Given the description of an element on the screen output the (x, y) to click on. 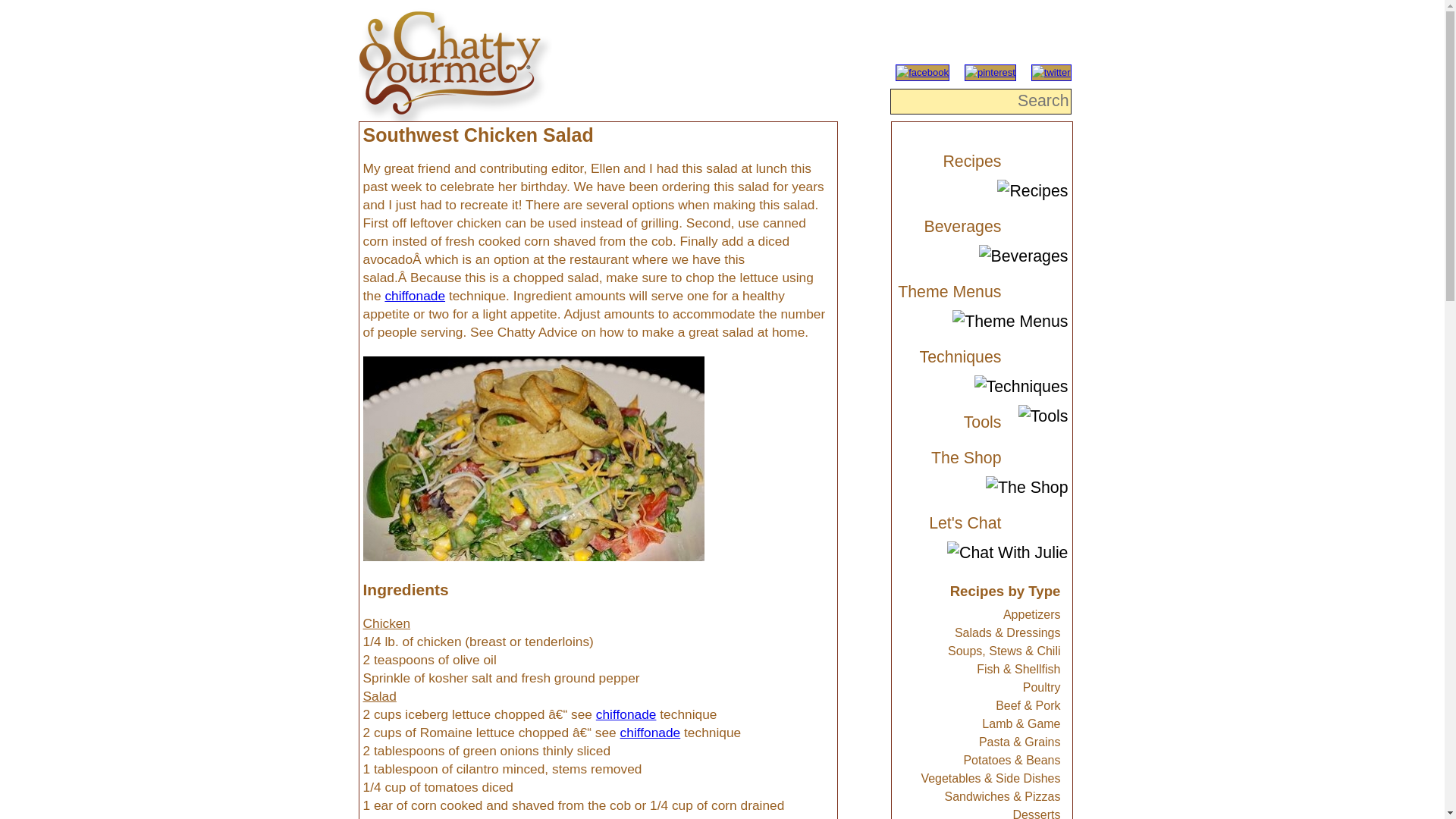
Chiffonade (625, 713)
Poultry (1042, 686)
Recipes (948, 161)
chiffonade (650, 732)
The Shop (948, 458)
Appetizers (1032, 614)
Chiffonade (414, 295)
chiffonade (625, 713)
chiffonade (414, 295)
Let's Chat (948, 523)
